Given the description of an element on the screen output the (x, y) to click on. 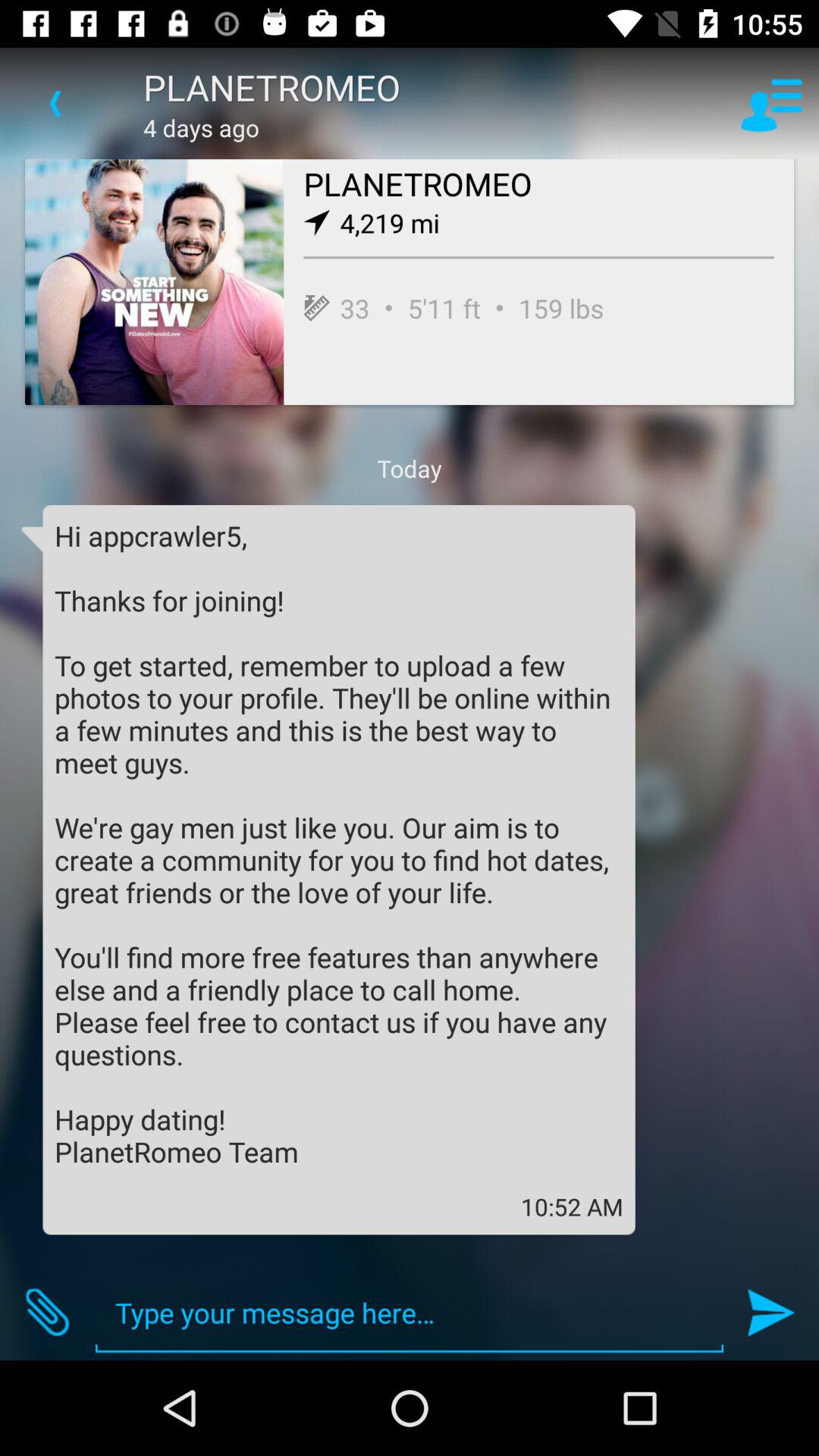
turn on item at the bottom left corner (47, 1312)
